Given the description of an element on the screen output the (x, y) to click on. 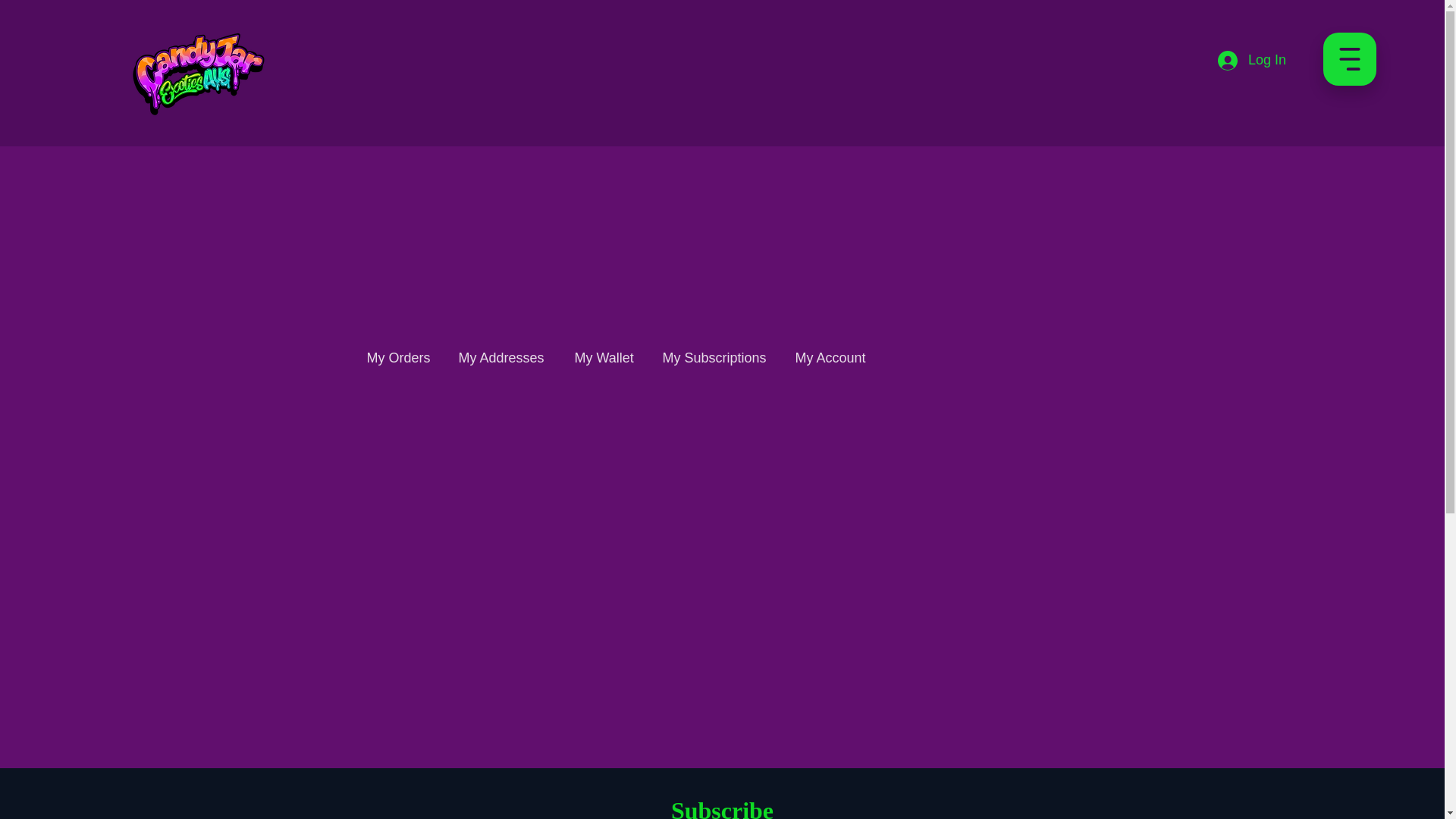
My Addresses (502, 350)
My Subscriptions (715, 350)
My Orders (399, 350)
My Account (831, 350)
My Wallet (604, 350)
Log In (1252, 60)
